Given the description of an element on the screen output the (x, y) to click on. 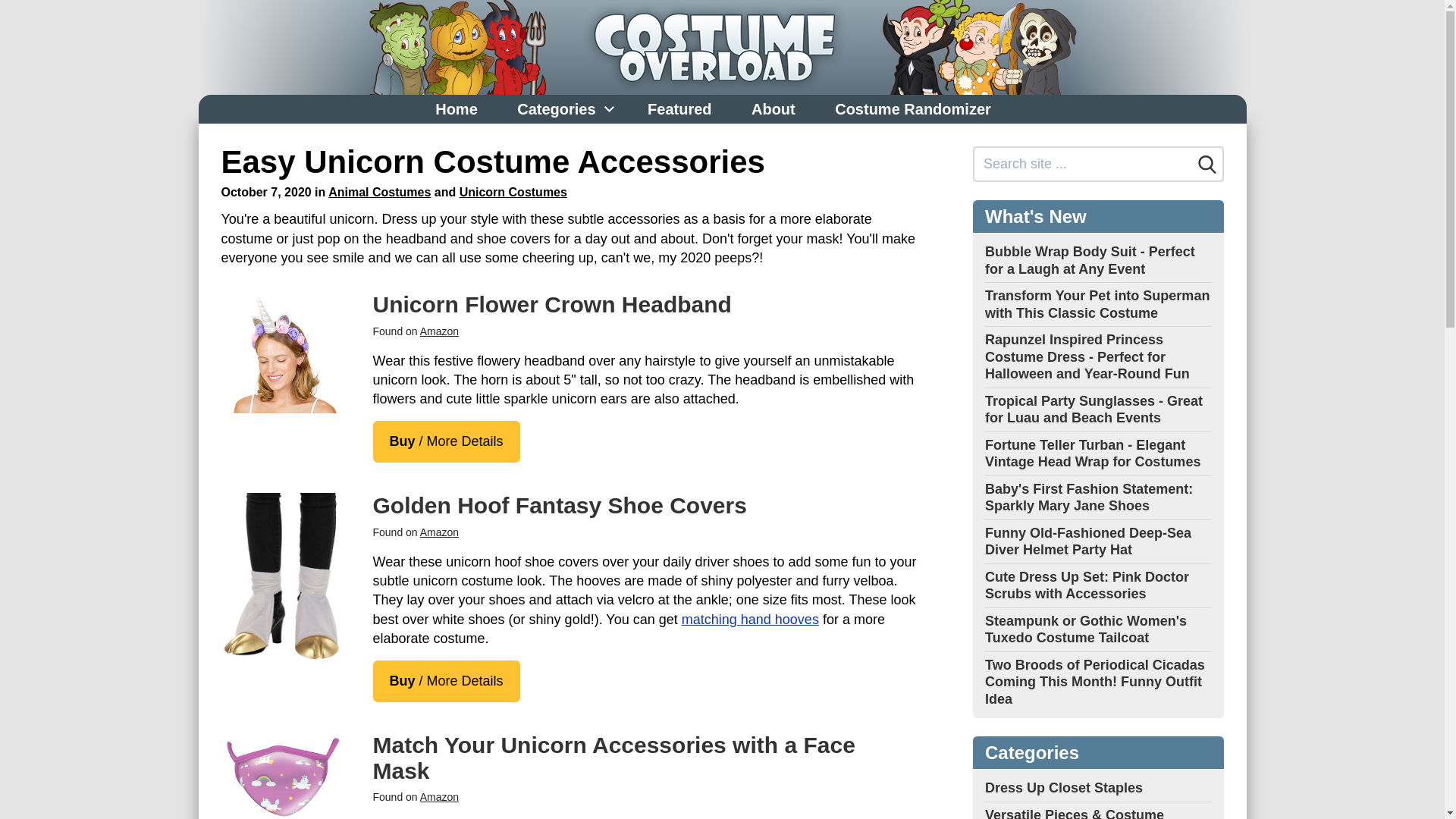
About (773, 109)
Featured (678, 109)
Costume Randomizer (912, 109)
Home (456, 109)
